Given the description of an element on the screen output the (x, y) to click on. 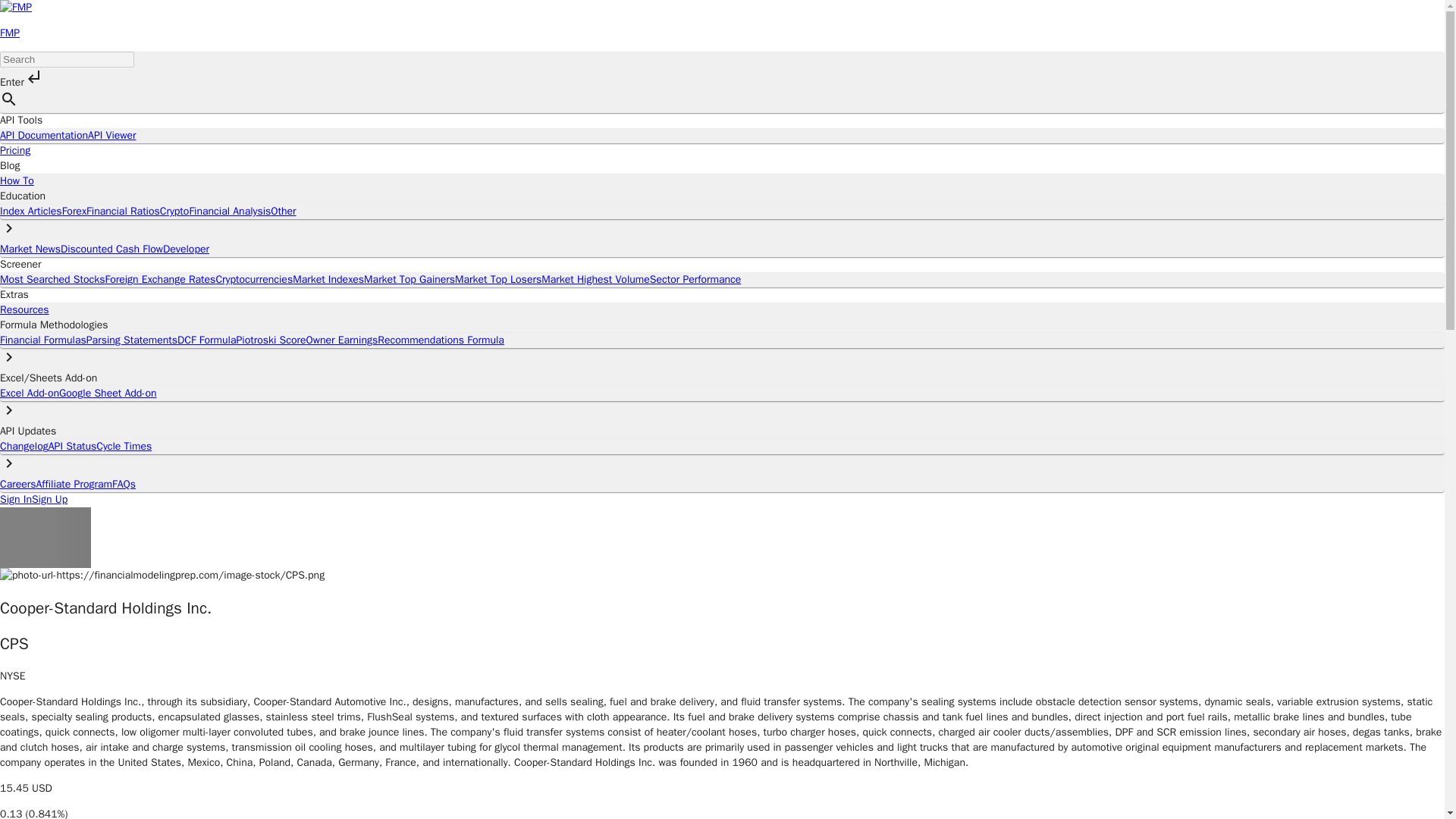
Developer (186, 248)
Market Top Gainers (409, 278)
Forex (73, 210)
Foreign Exchange Rates (159, 278)
Crypto (174, 210)
Other (282, 210)
Sign Up (49, 499)
Sector Performance (695, 278)
Google Sheet Add-on (108, 392)
Market Indexes (328, 278)
